Given the description of an element on the screen output the (x, y) to click on. 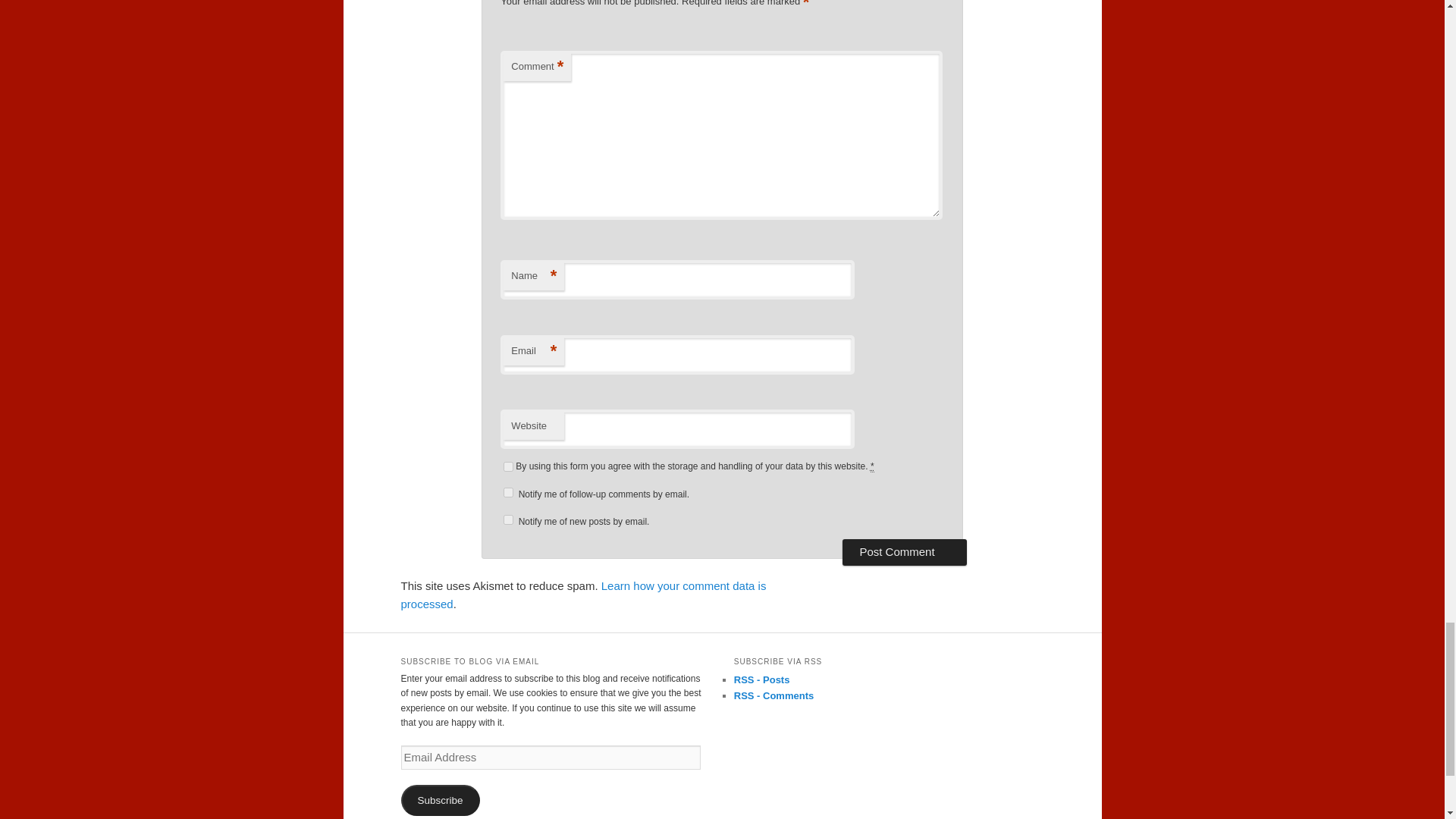
subscribe (508, 519)
Post Comment (904, 551)
Subscribe to posts (761, 679)
Subscribe to comments (773, 695)
subscribe (508, 492)
